Given the description of an element on the screen output the (x, y) to click on. 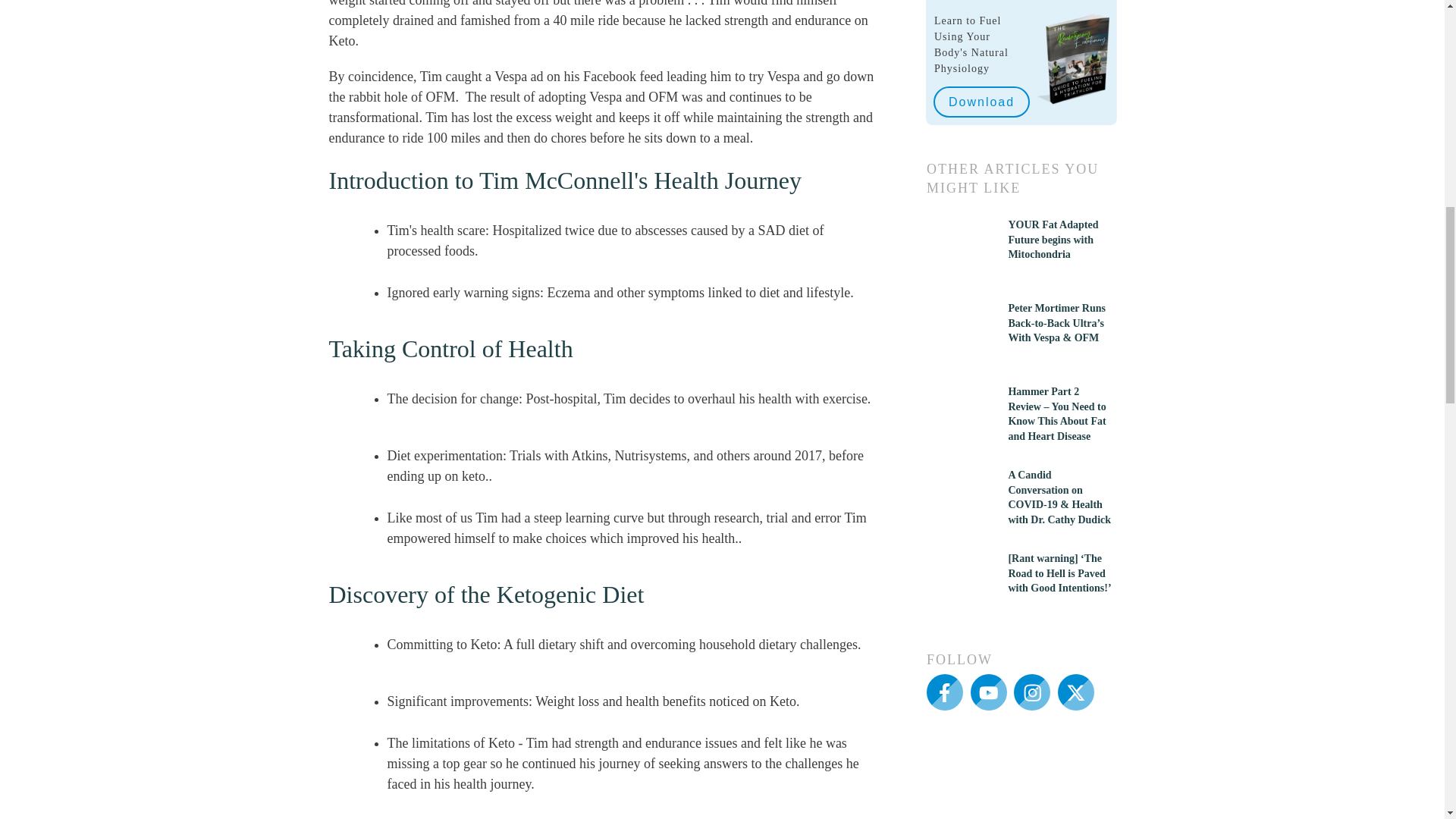
multisport-3d-cover-1 (1072, 58)
Download (981, 101)
YOUR Fat Adapted Future begins with Mitochondria (1052, 239)
YOUR Fat Adapted Future begins with Mitochondria (1052, 239)
